Given the description of an element on the screen output the (x, y) to click on. 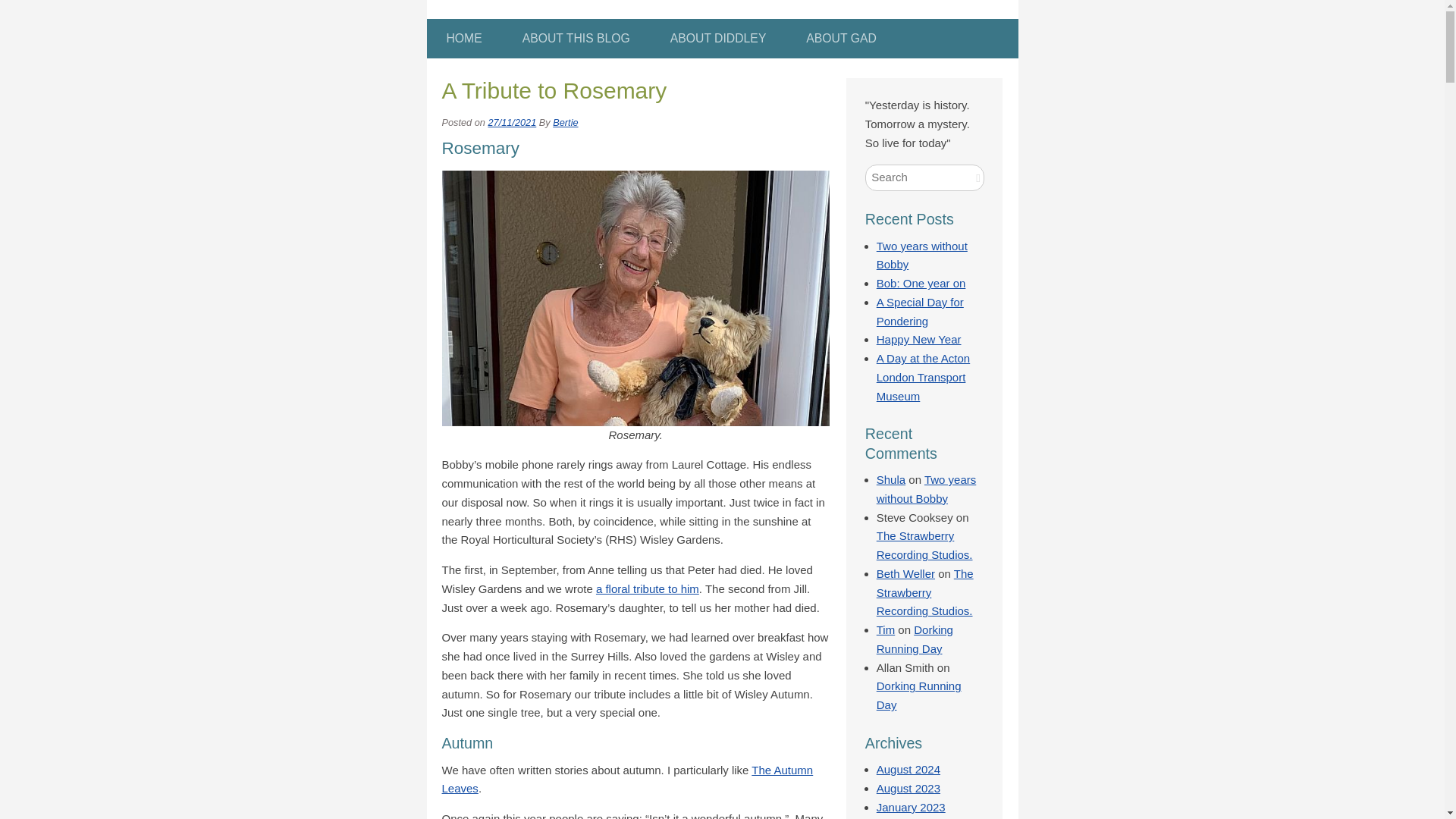
Bertie (565, 122)
A Day at the Acton London Transport Museum (922, 377)
Two years without Bobby (922, 255)
ABOUT GAD (840, 38)
HOME (463, 38)
a floral tribute to him (646, 588)
A Special Day for Pondering (919, 311)
Posts by Bertie (565, 122)
The Strawberry Recording Studios. (924, 545)
ABOUT DIDDLEY (718, 38)
